Given the description of an element on the screen output the (x, y) to click on. 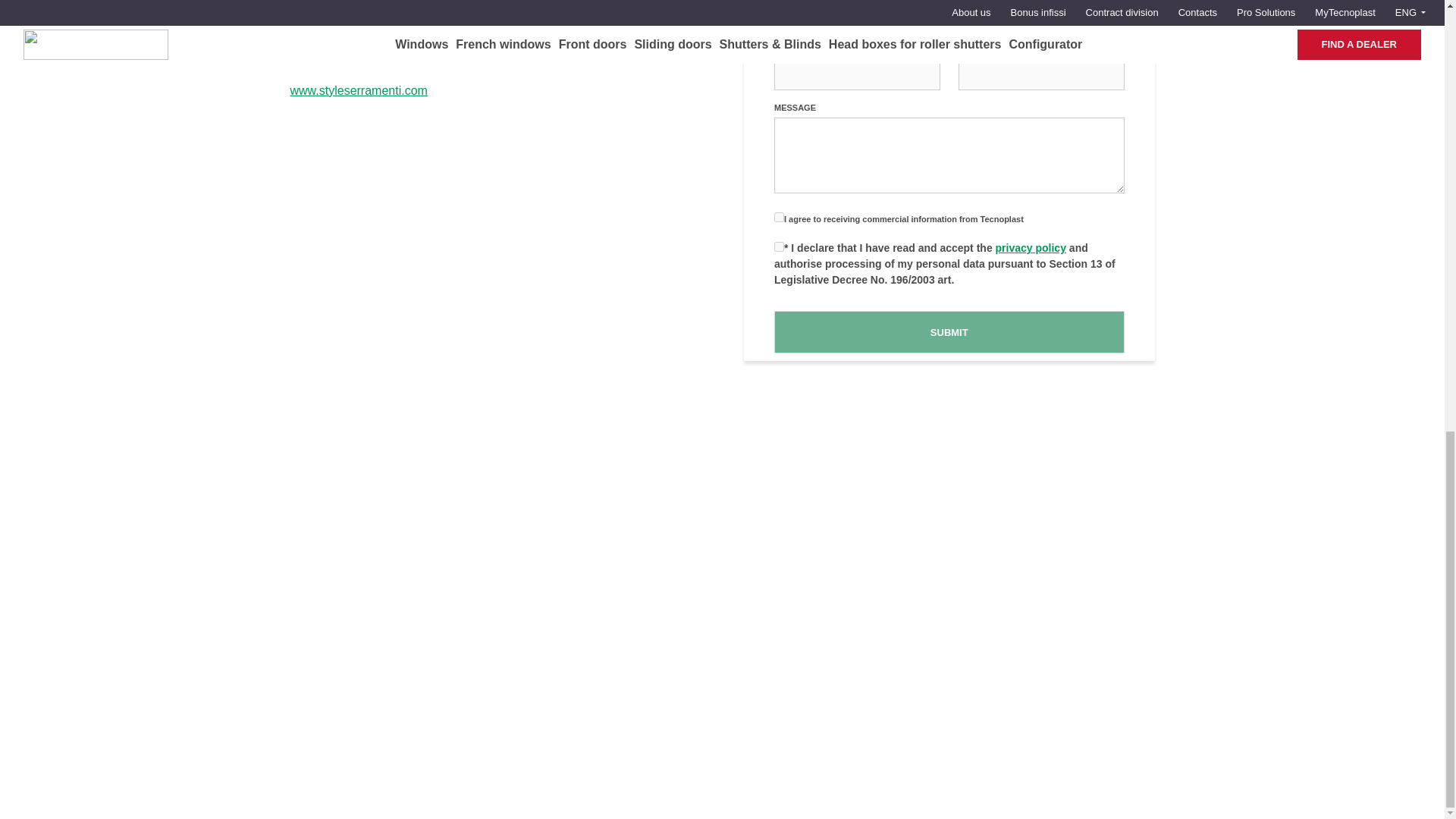
1 (779, 246)
SUBMIT (949, 331)
I agree to receiving commercial information from Tecnoplast (779, 216)
